Given the description of an element on the screen output the (x, y) to click on. 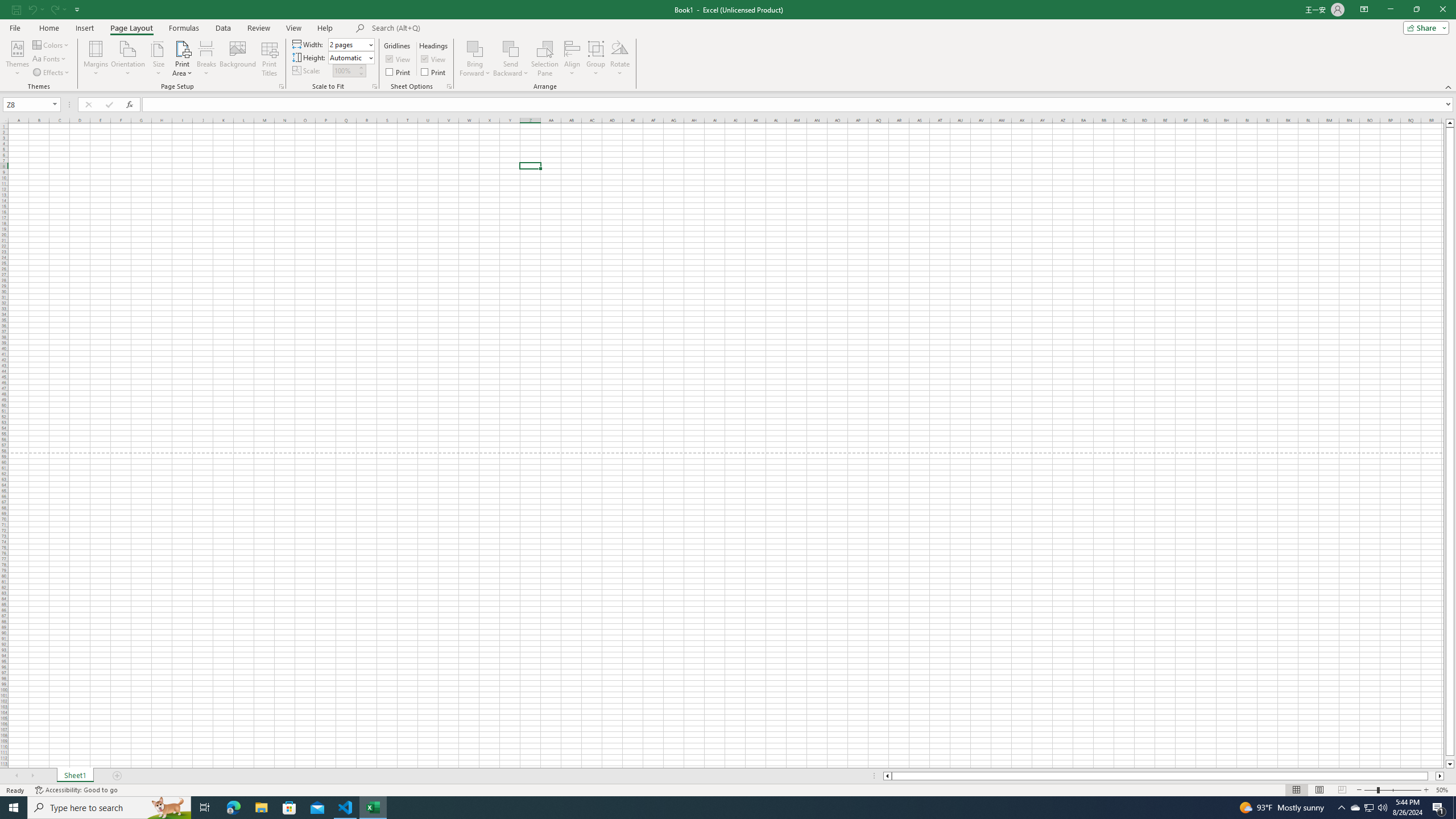
Colors (51, 44)
Print Area (182, 58)
Height (350, 56)
Background... (237, 58)
Send Backward (510, 48)
